Given the description of an element on the screen output the (x, y) to click on. 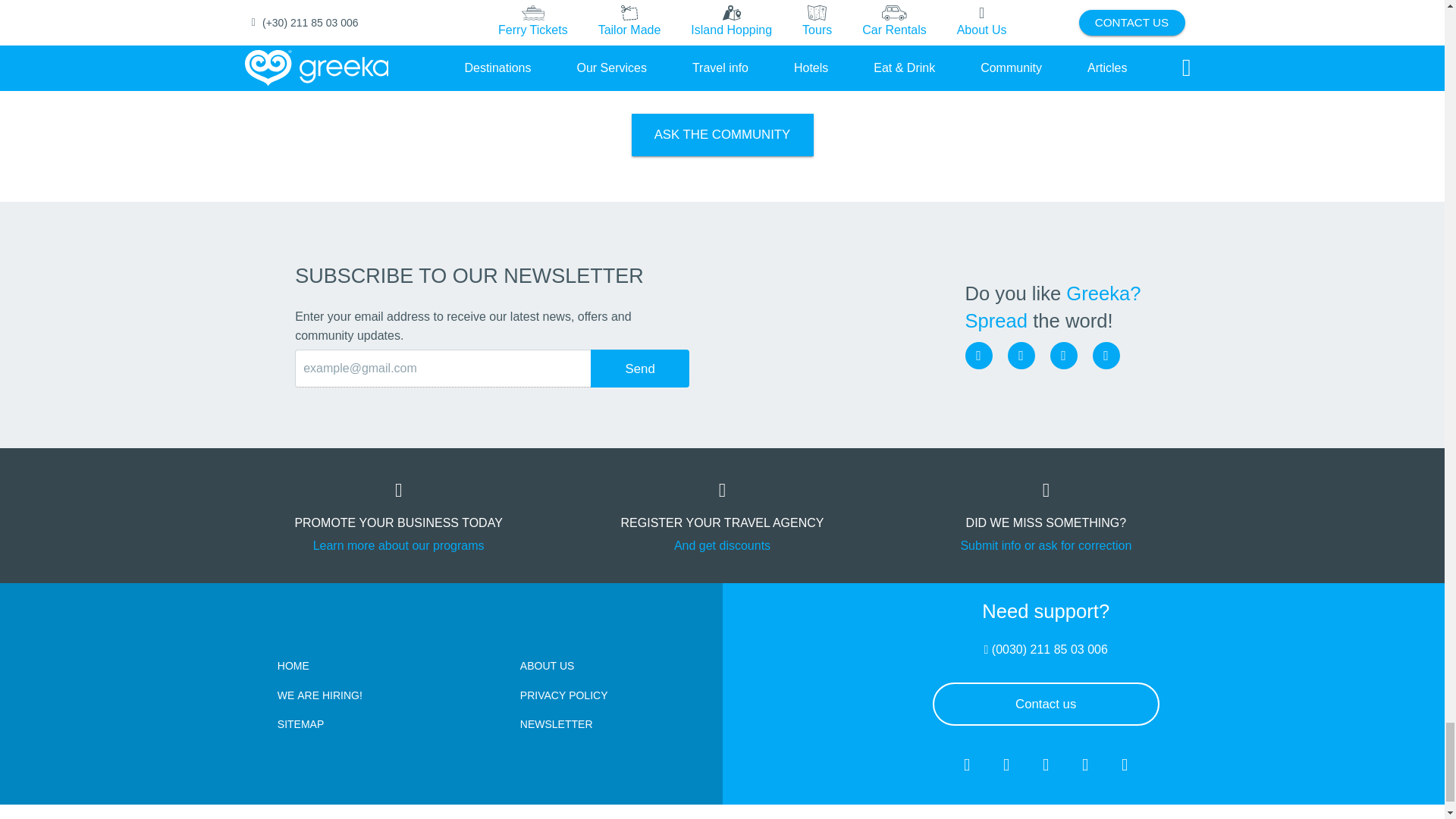
Send (639, 368)
